Given the description of an element on the screen output the (x, y) to click on. 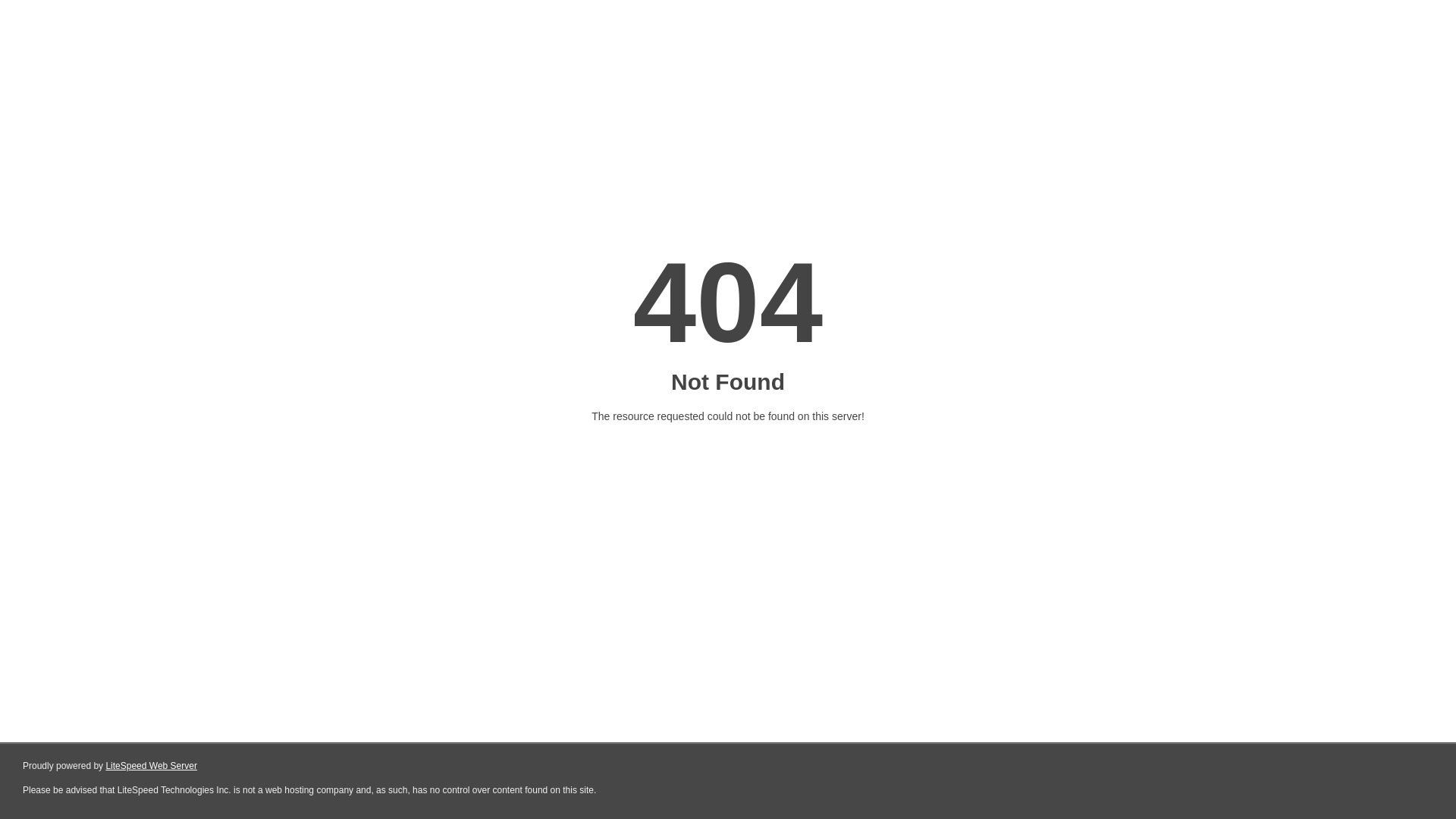
LiteSpeed Web Server Element type: text (151, 765)
